Given the description of an element on the screen output the (x, y) to click on. 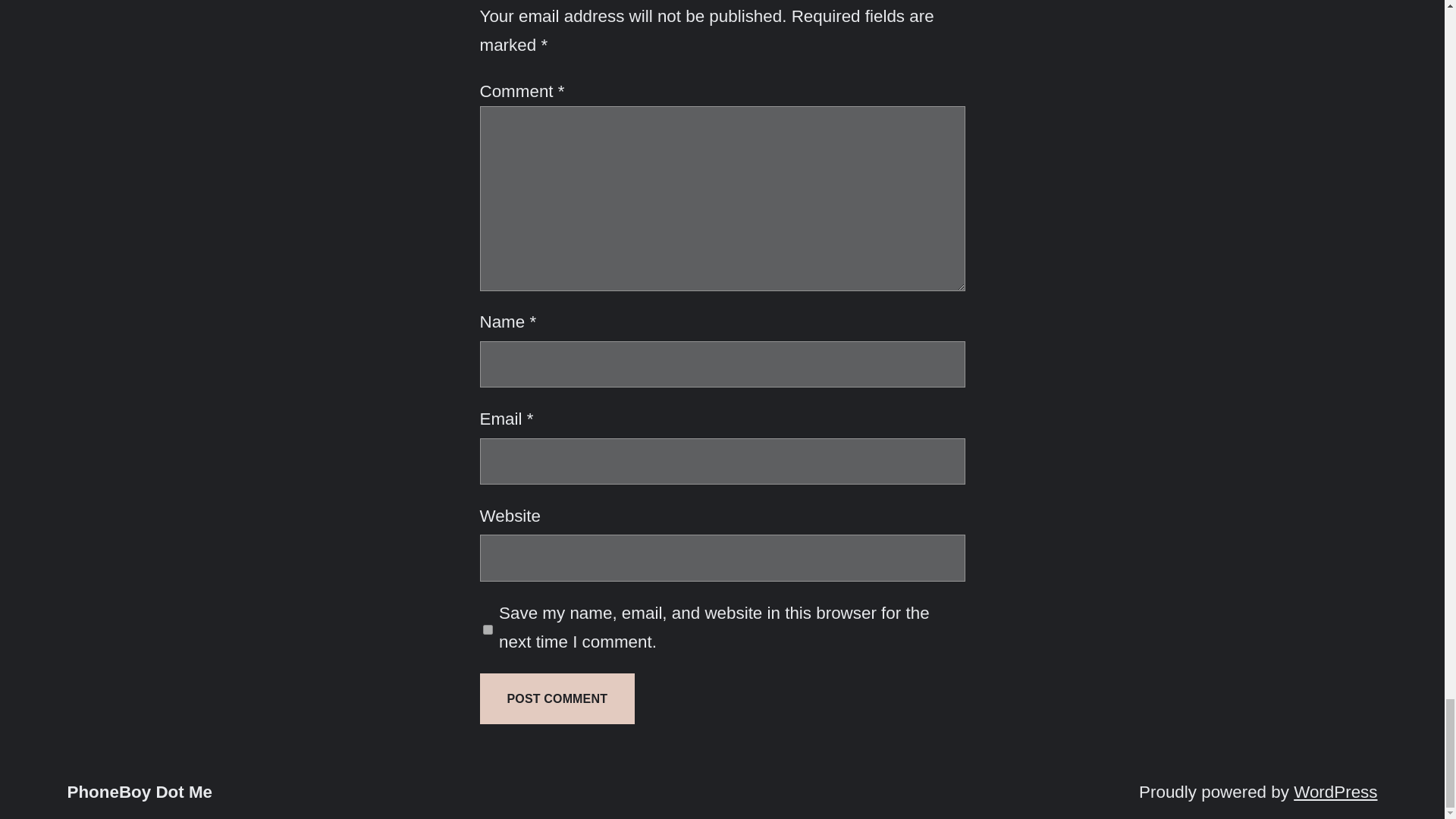
WordPress (1335, 791)
PhoneBoy Dot Me (139, 791)
yes (486, 629)
Post Comment (556, 698)
Post Comment (556, 698)
